Given the description of an element on the screen output the (x, y) to click on. 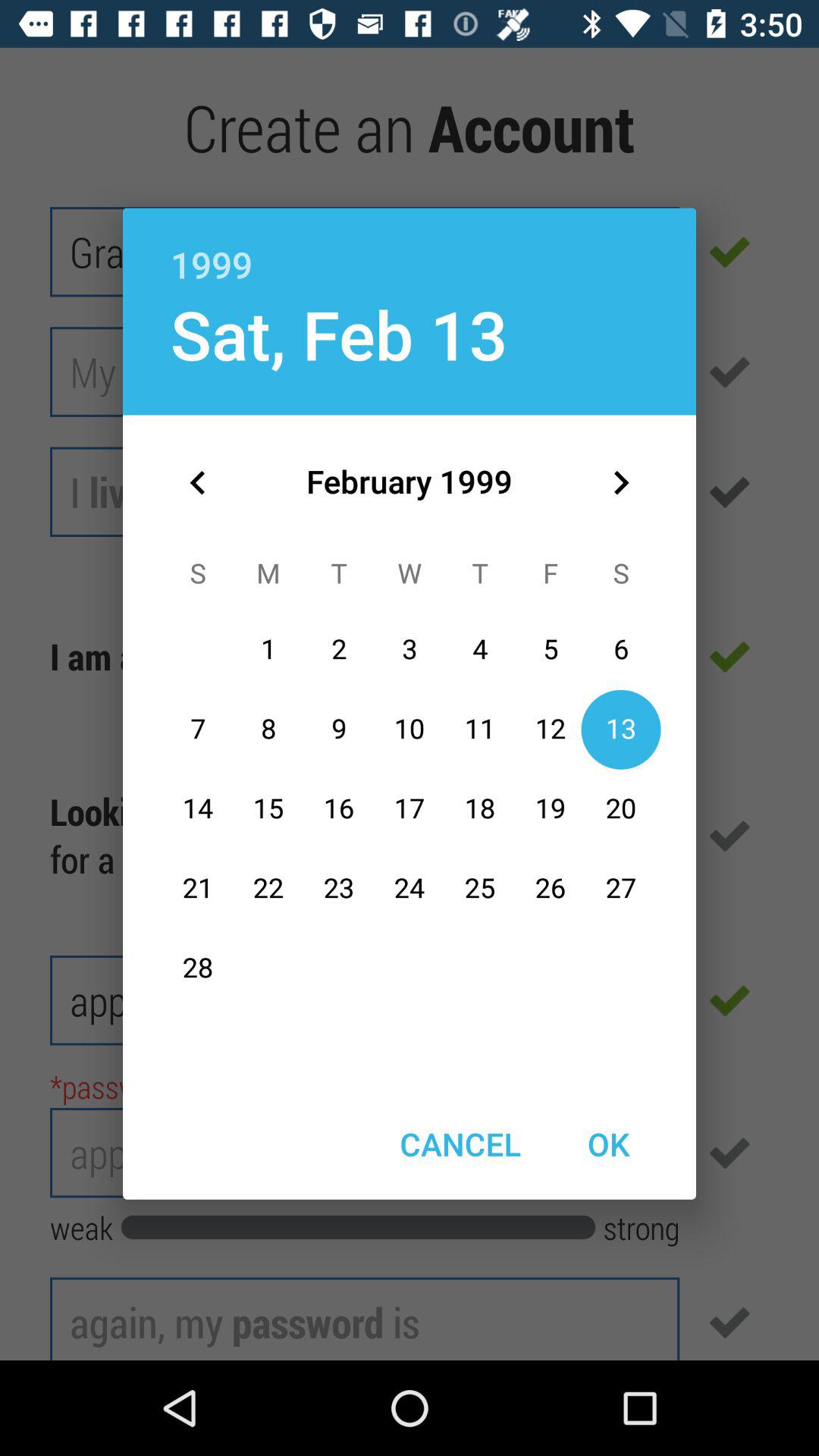
tap the icon next to the ok icon (459, 1143)
